Given the description of an element on the screen output the (x, y) to click on. 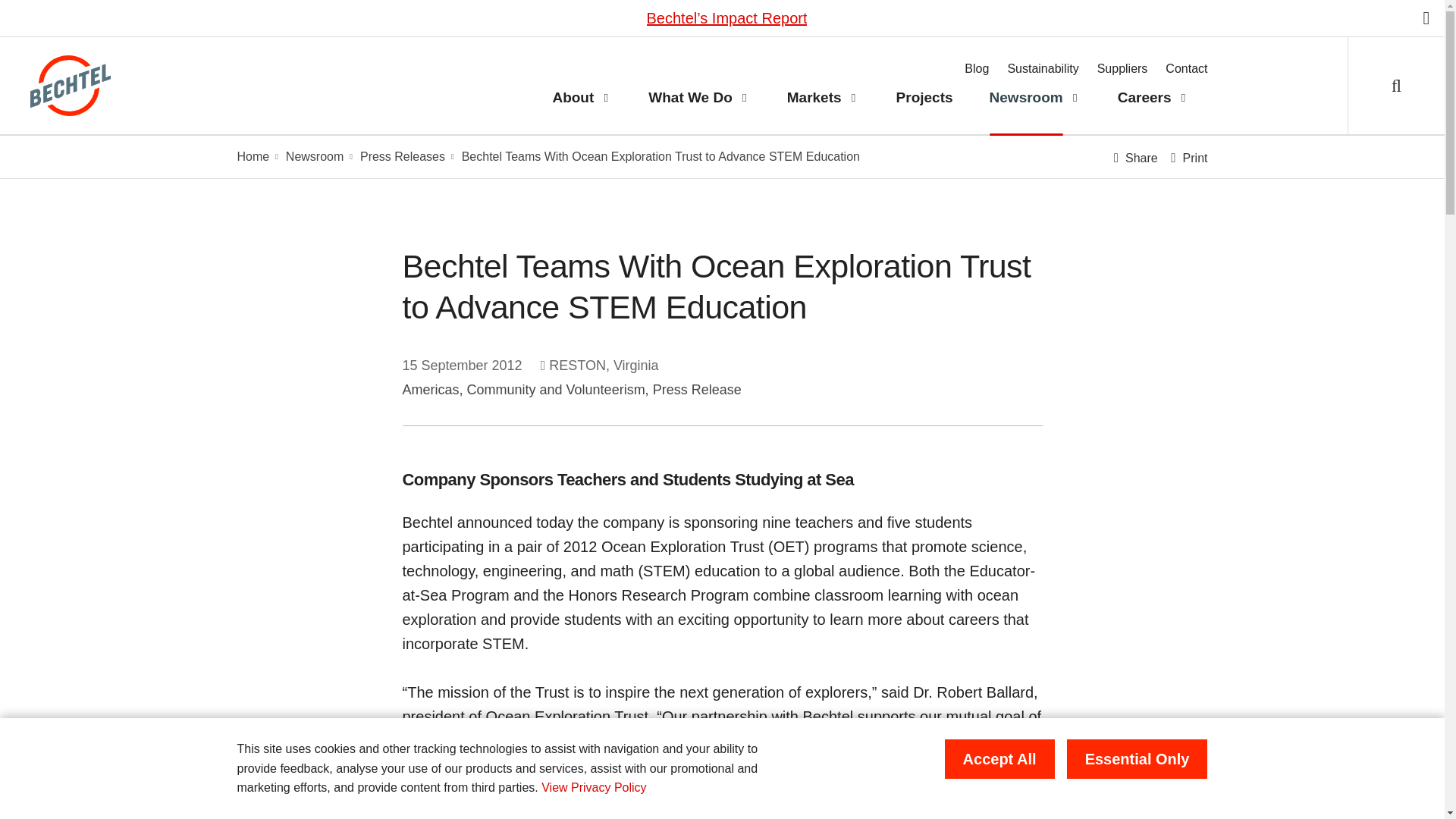
Sustainability (1042, 68)
Markets (804, 97)
What We Do (681, 97)
Blog (975, 68)
View Privacy Policy (593, 787)
Accept All (999, 758)
Essential Only (1137, 758)
Contact (1186, 68)
Suppliers (1122, 68)
